Given the description of an element on the screen output the (x, y) to click on. 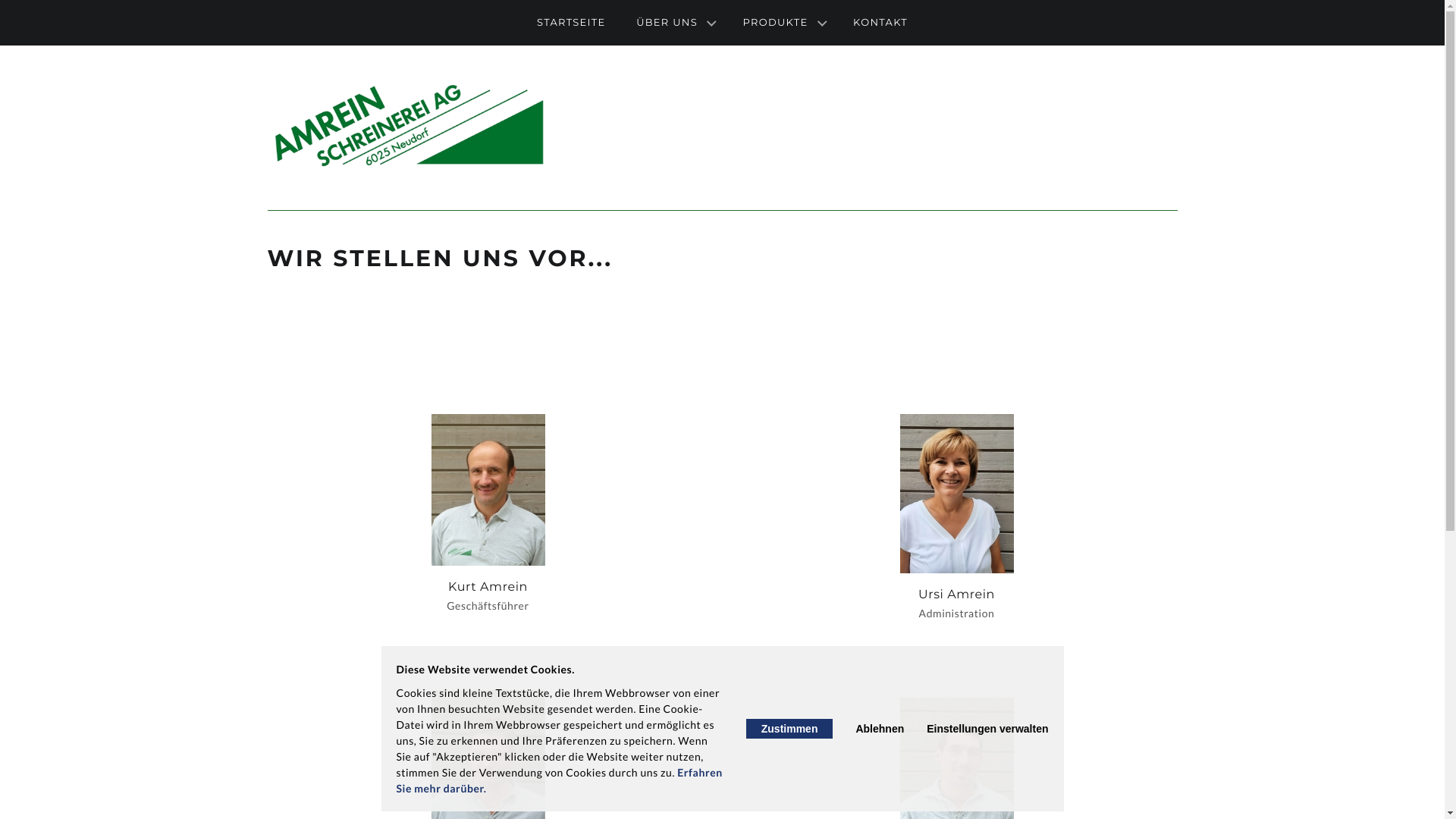
Ursi Amrein
Administration Element type: text (955, 517)
Einstellungen verwalten Element type: text (987, 728)
Ablehnen Element type: text (879, 728)
Kurt Amrein Element type: hover (487, 489)
Zustimmen Element type: text (789, 728)
Ursi Amrein Element type: hover (956, 493)
KONTAKT Element type: text (879, 22)
STARTSEITE Element type: text (571, 22)
